Given the description of an element on the screen output the (x, y) to click on. 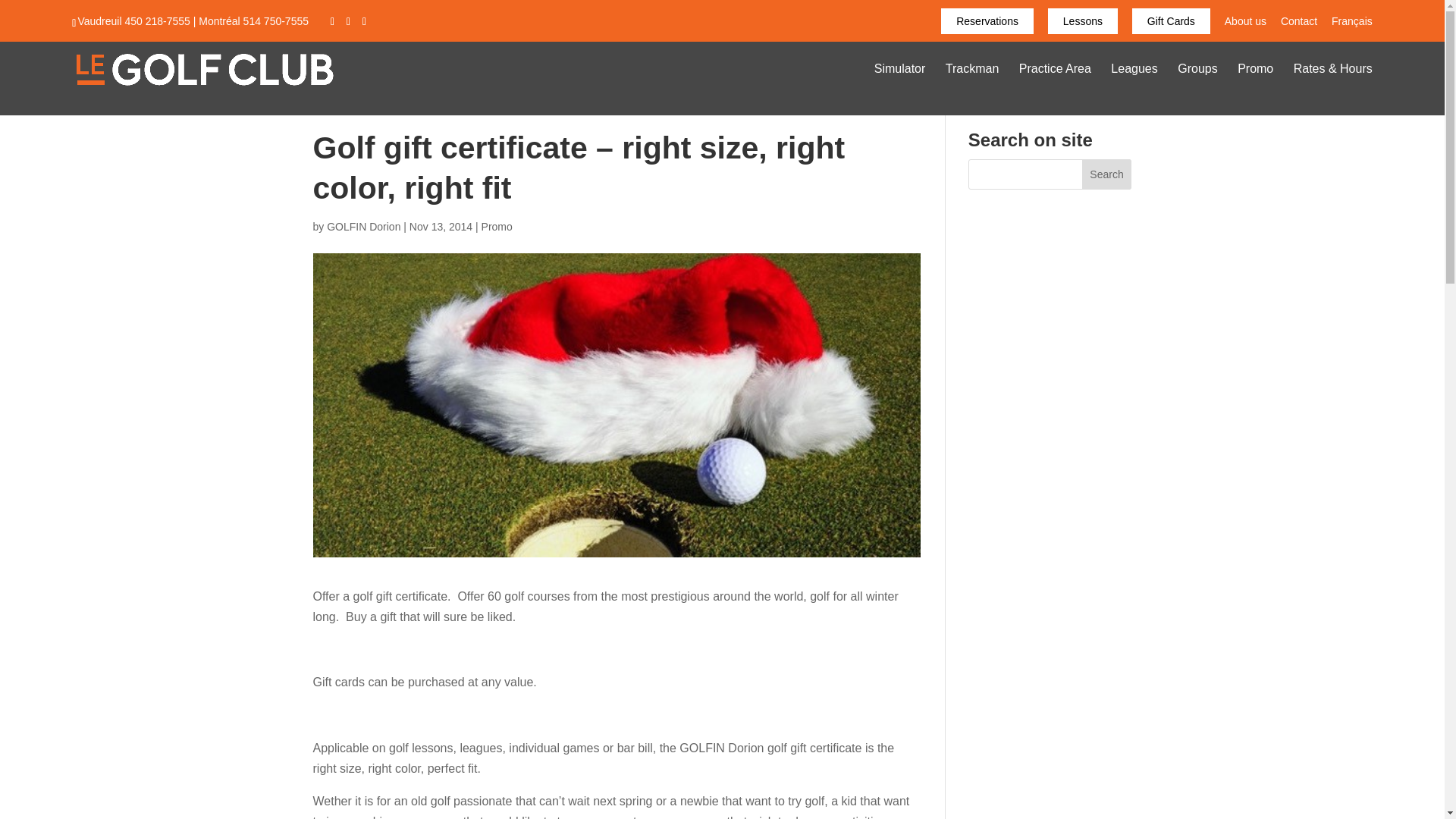
Posts by GOLFIN Dorion (363, 226)
About us (1245, 24)
Simulator (900, 89)
Reservations (986, 20)
Trackman (971, 89)
Leagues (1133, 89)
Search (1106, 173)
450 218-7555 (156, 21)
Lessons (1083, 20)
Gift Cards (1170, 20)
